Given the description of an element on the screen output the (x, y) to click on. 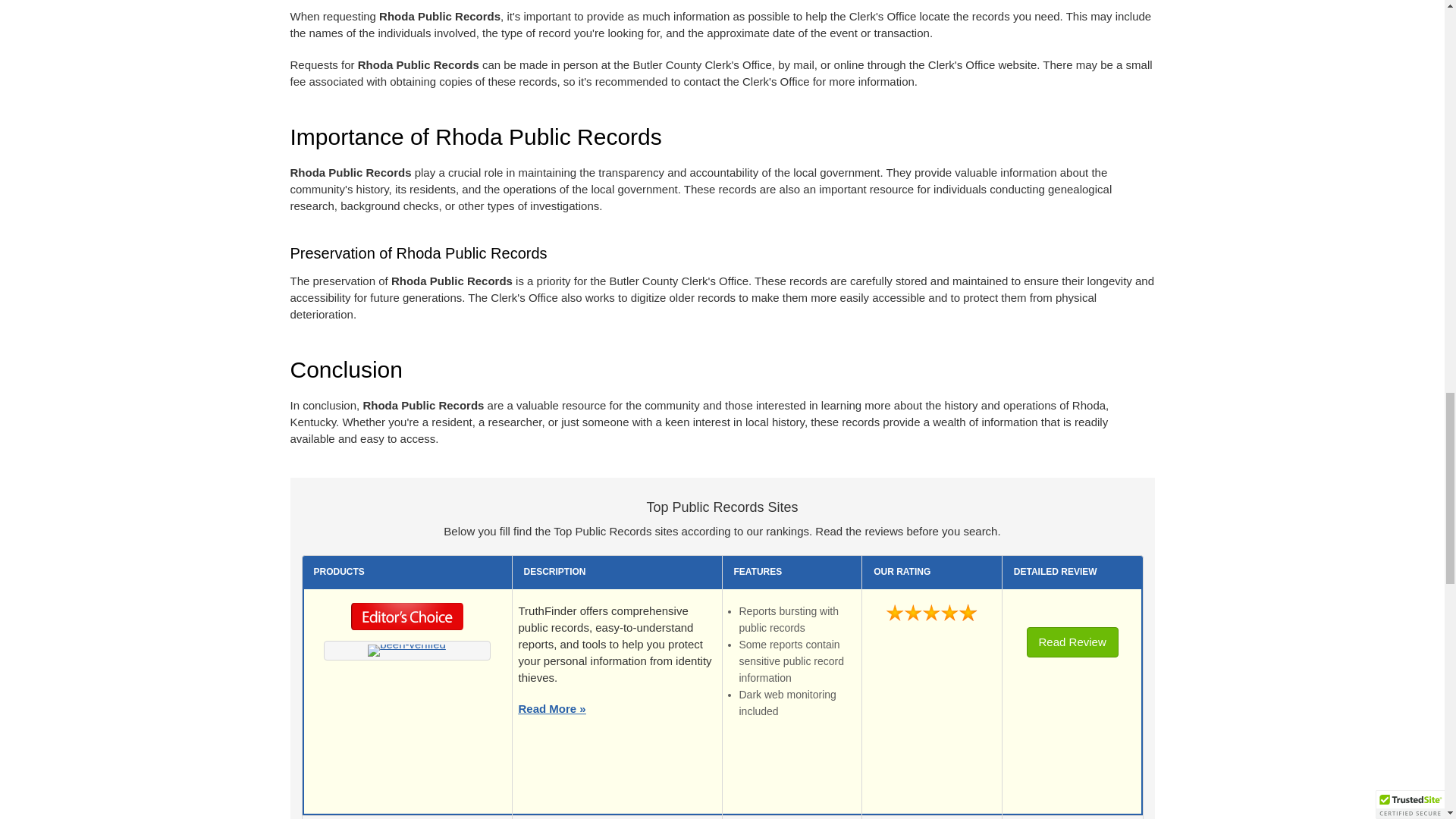
TruthFinder (406, 650)
Editors Choice (407, 620)
